Given the description of an element on the screen output the (x, y) to click on. 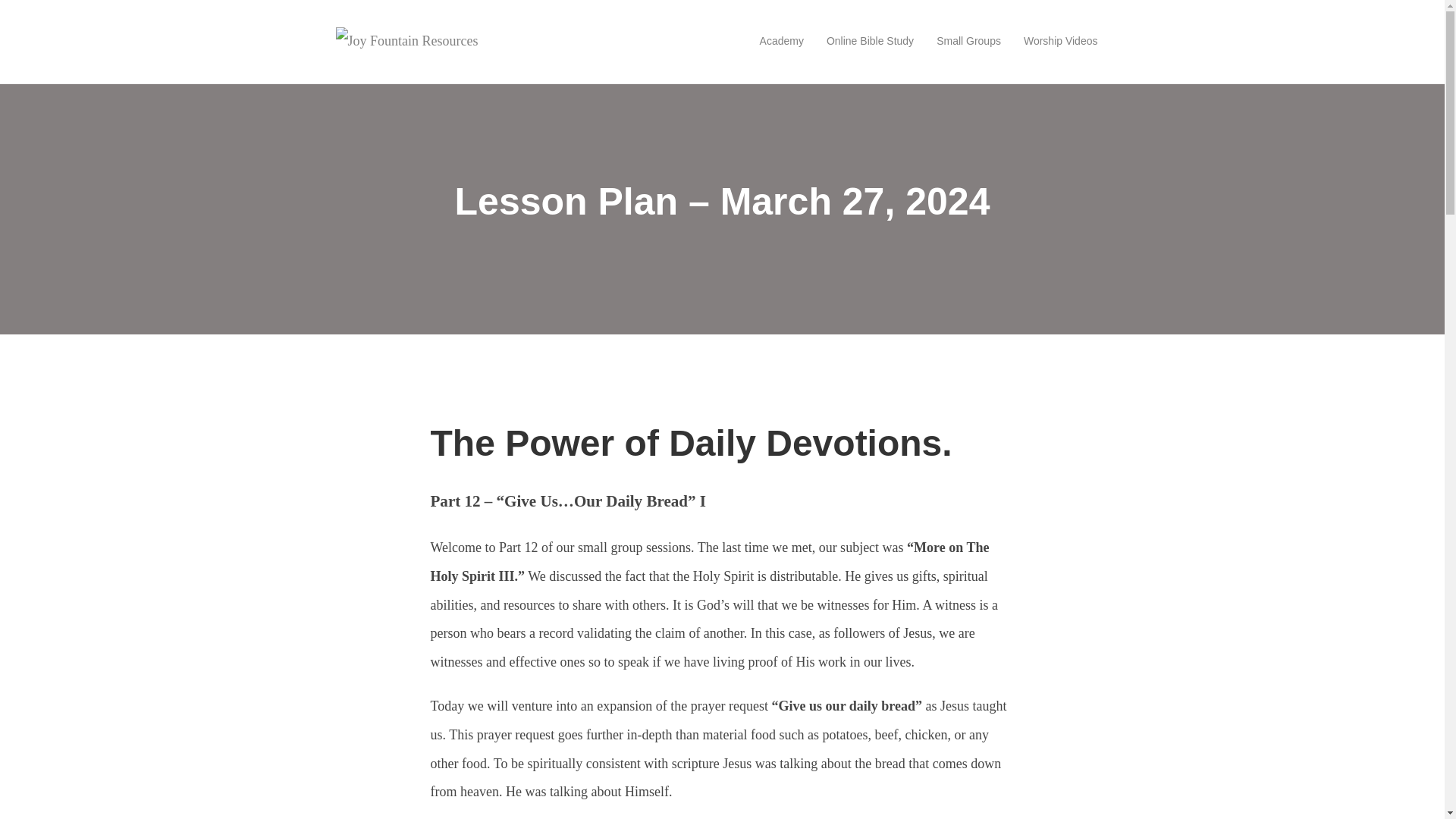
Online Bible Study (869, 41)
Worship Videos (1060, 41)
Small Groups (967, 41)
Academy (781, 41)
